Given the description of an element on the screen output the (x, y) to click on. 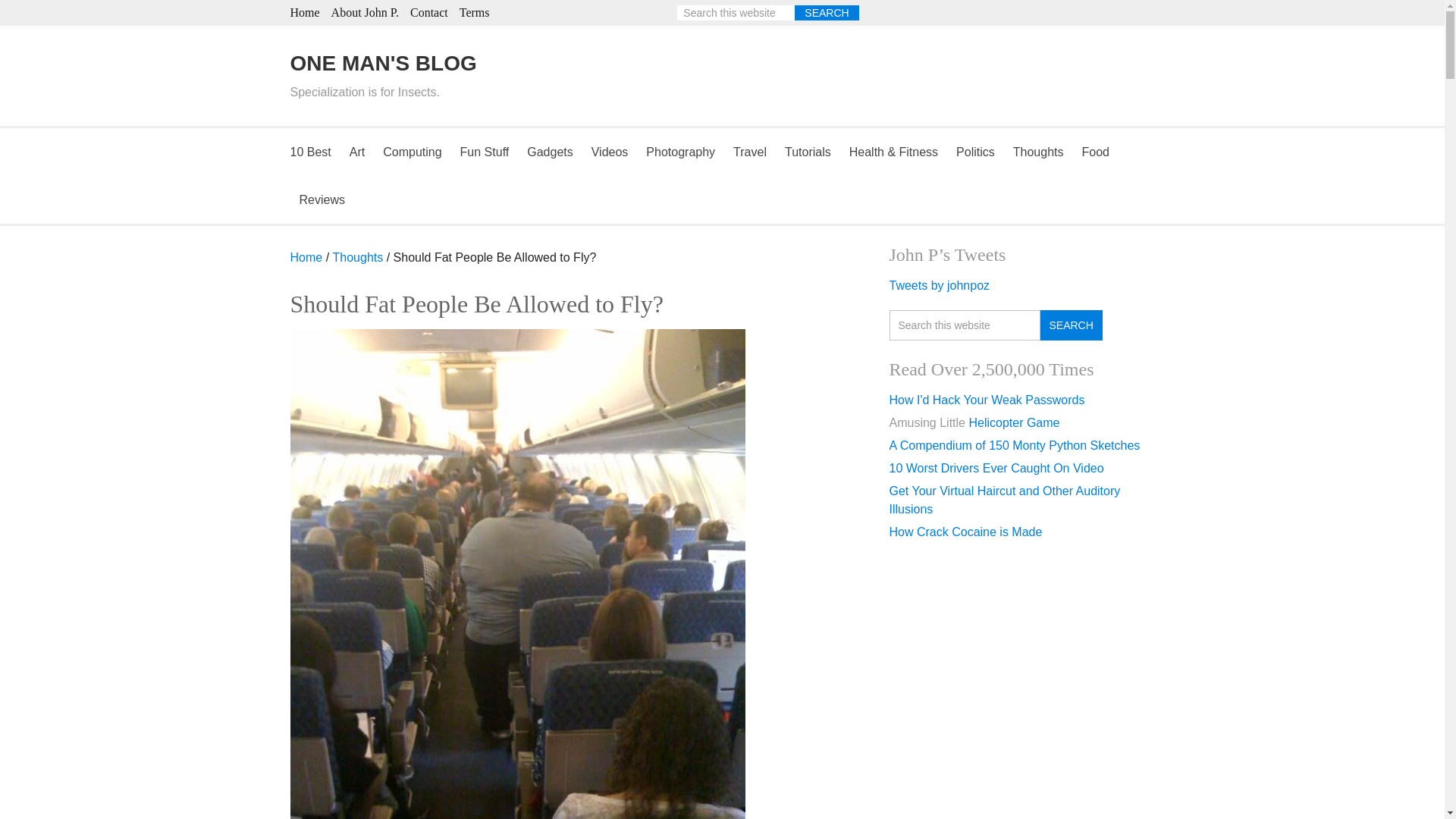
Photography (680, 151)
Home (303, 11)
Fun Stuff (484, 151)
Contact (429, 11)
About John P. (364, 11)
Reviews (321, 199)
10 Best (314, 151)
Gadgets (549, 151)
Tutorials (808, 151)
Travel (749, 151)
